Given the description of an element on the screen output the (x, y) to click on. 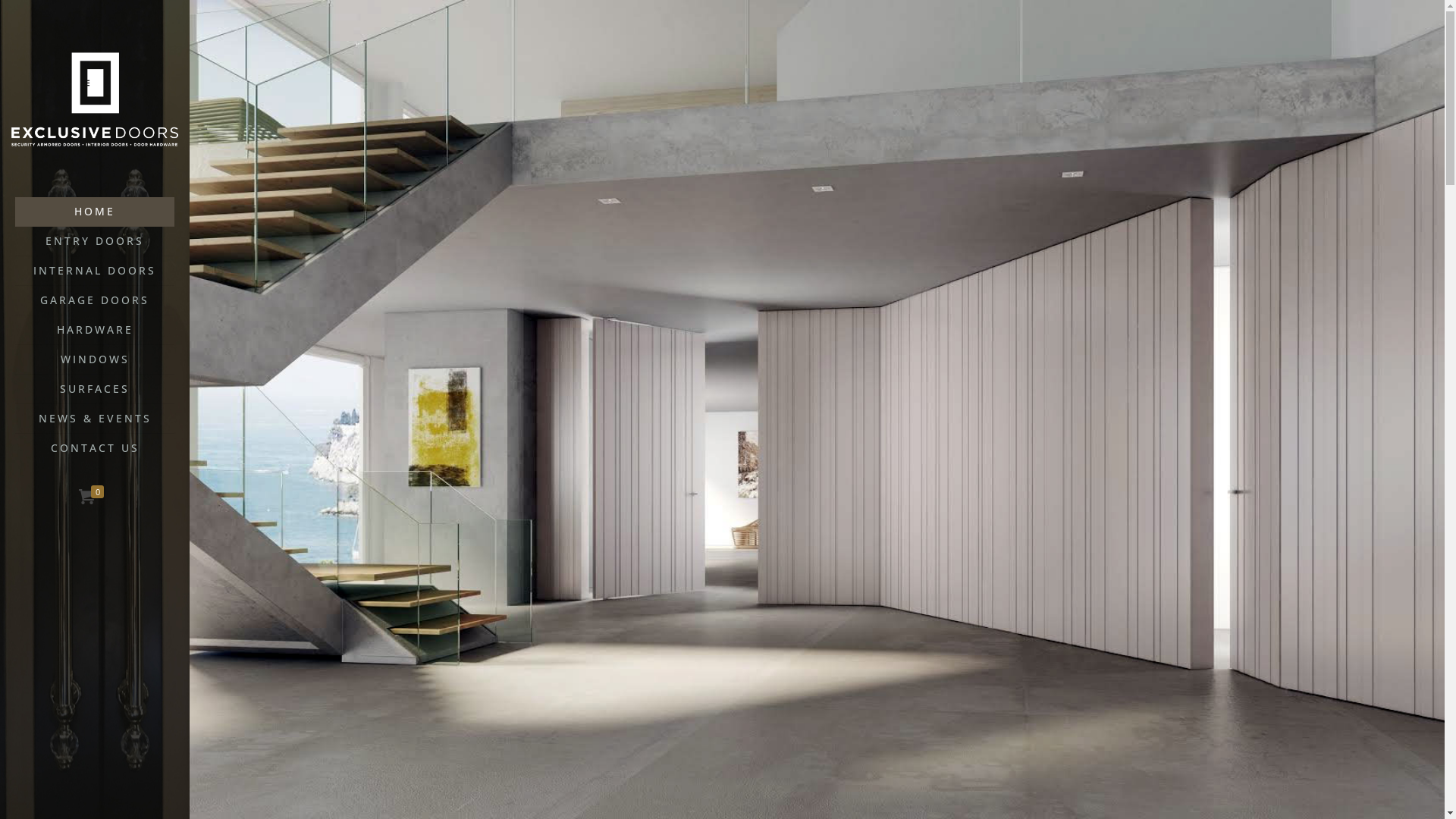
ENTRY DOORS Element type: text (94, 241)
NEWS & EVENTS Element type: text (94, 418)
Exclusive Doors Element type: hover (94, 98)
GARAGE DOORS Element type: text (94, 300)
HOME Element type: text (94, 211)
WINDOWS Element type: text (94, 359)
SURFACES Element type: text (94, 389)
CONTACT US Element type: text (94, 447)
INTERNAL DOORS Element type: text (94, 270)
0 Element type: text (93, 496)
HARDWARE Element type: text (94, 330)
